Given the description of an element on the screen output the (x, y) to click on. 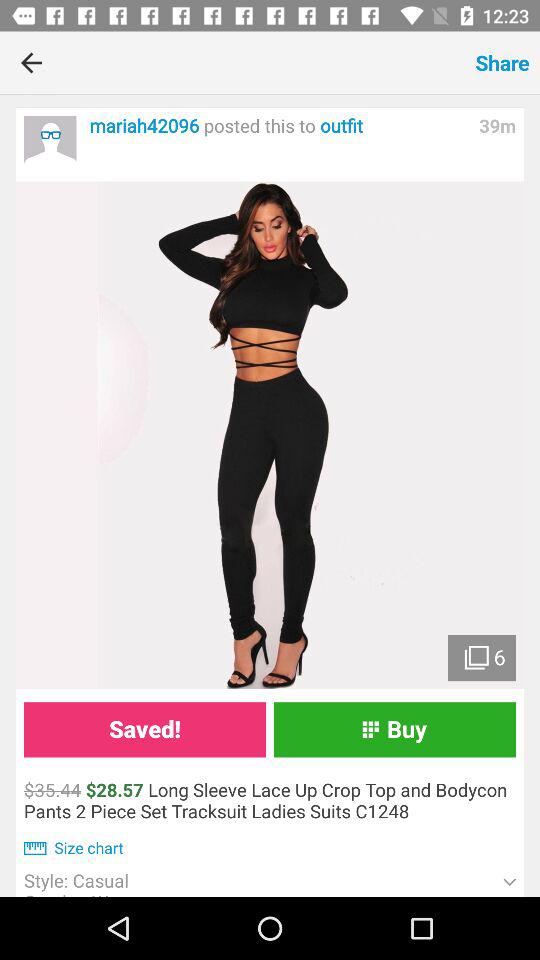
the post of other (50, 141)
